Given the description of an element on the screen output the (x, y) to click on. 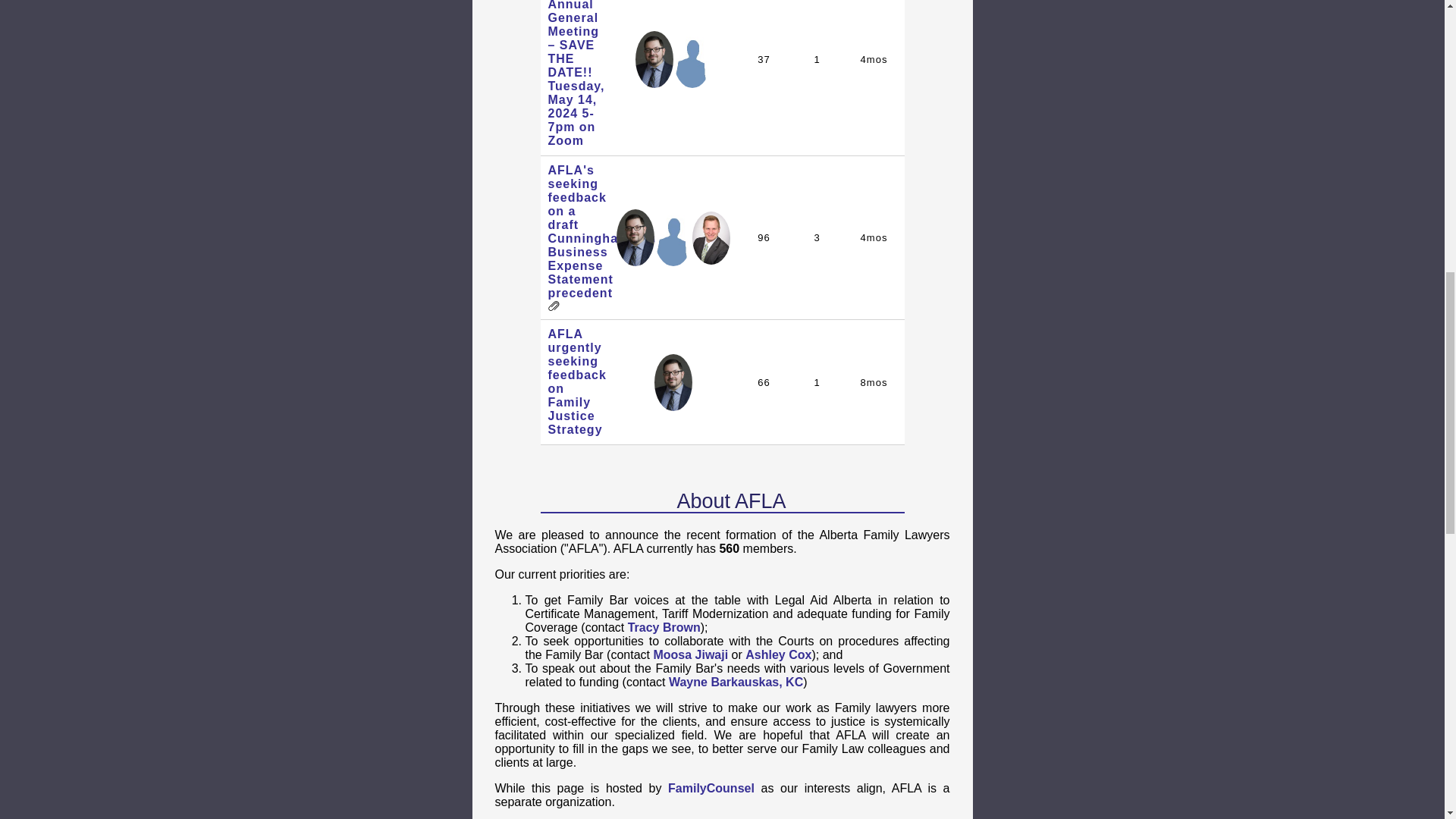
Wayne Barkauskas, KC (735, 681)
Ashley Cox (777, 654)
Moosa Jiwaji (690, 654)
FamilyCounsel (711, 788)
Tracy Brown (663, 626)
